Given the description of an element on the screen output the (x, y) to click on. 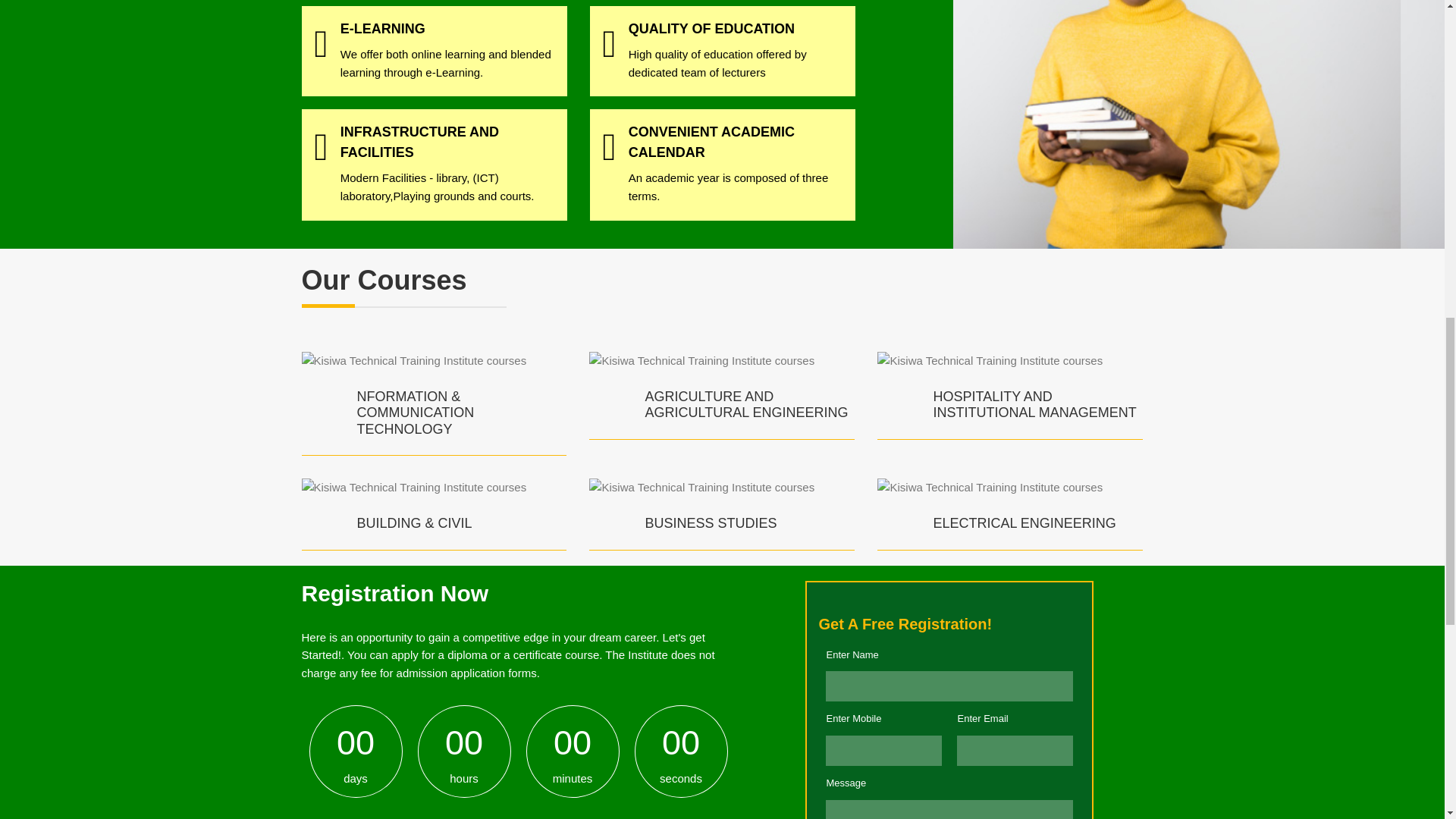
HOSPITALITY AND INSTITUTIONAL MANAGEMENT (1034, 404)
E-LEARNING (382, 28)
CONVENIENT ACADEMIC CALENDAR (711, 141)
QUALITY OF EDUCATION (711, 28)
ELECTRICAL ENGINEERING (1024, 522)
AGRICULTURE AND AGRICULTURAL ENGINEERING (746, 404)
BUSINESS STUDIES (710, 522)
INFRASTRUCTURE AND FACILITIES (419, 141)
